Given the description of an element on the screen output the (x, y) to click on. 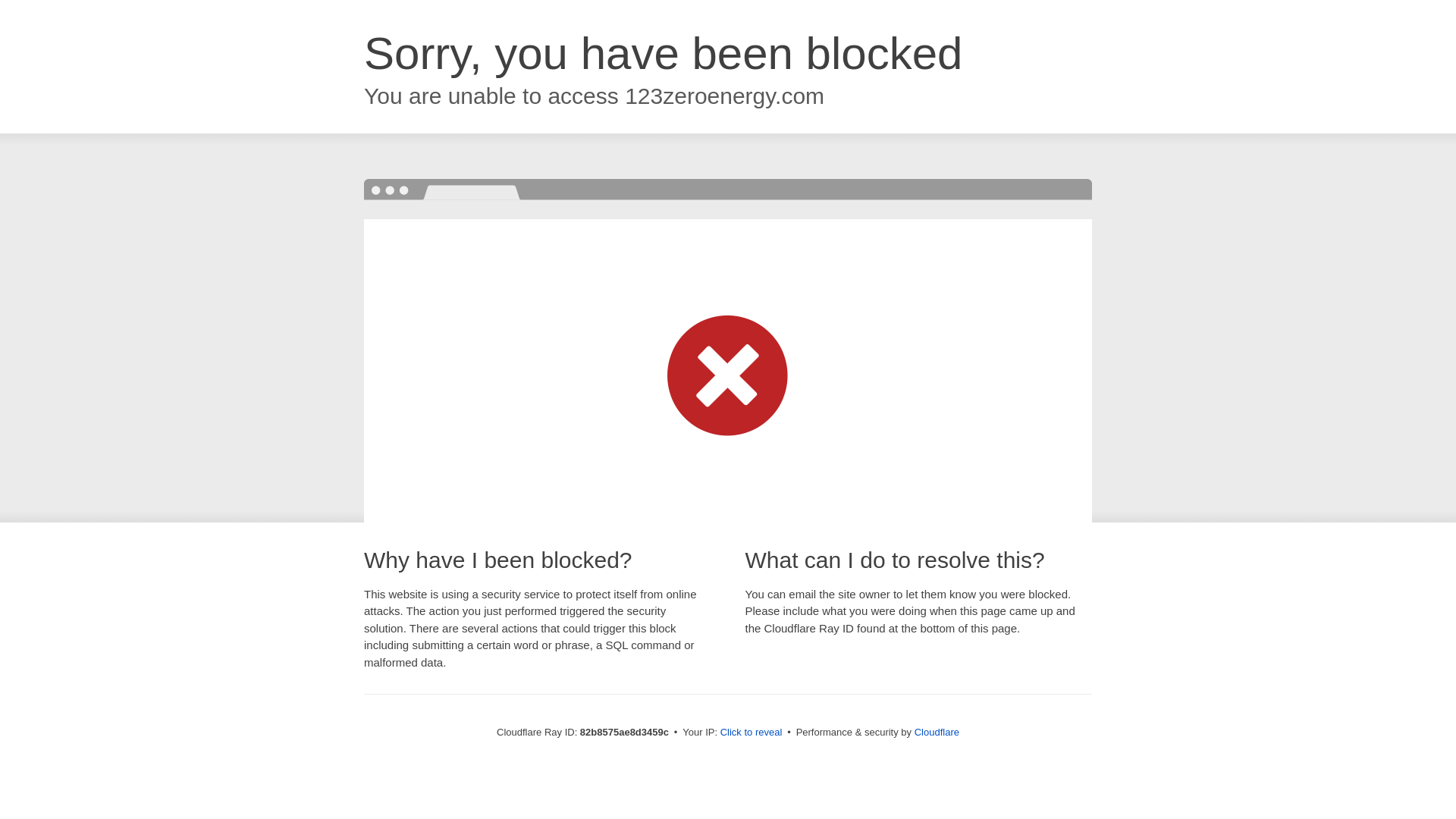
Click to reveal Element type: text (751, 732)
Cloudflare Element type: text (936, 731)
